Given the description of an element on the screen output the (x, y) to click on. 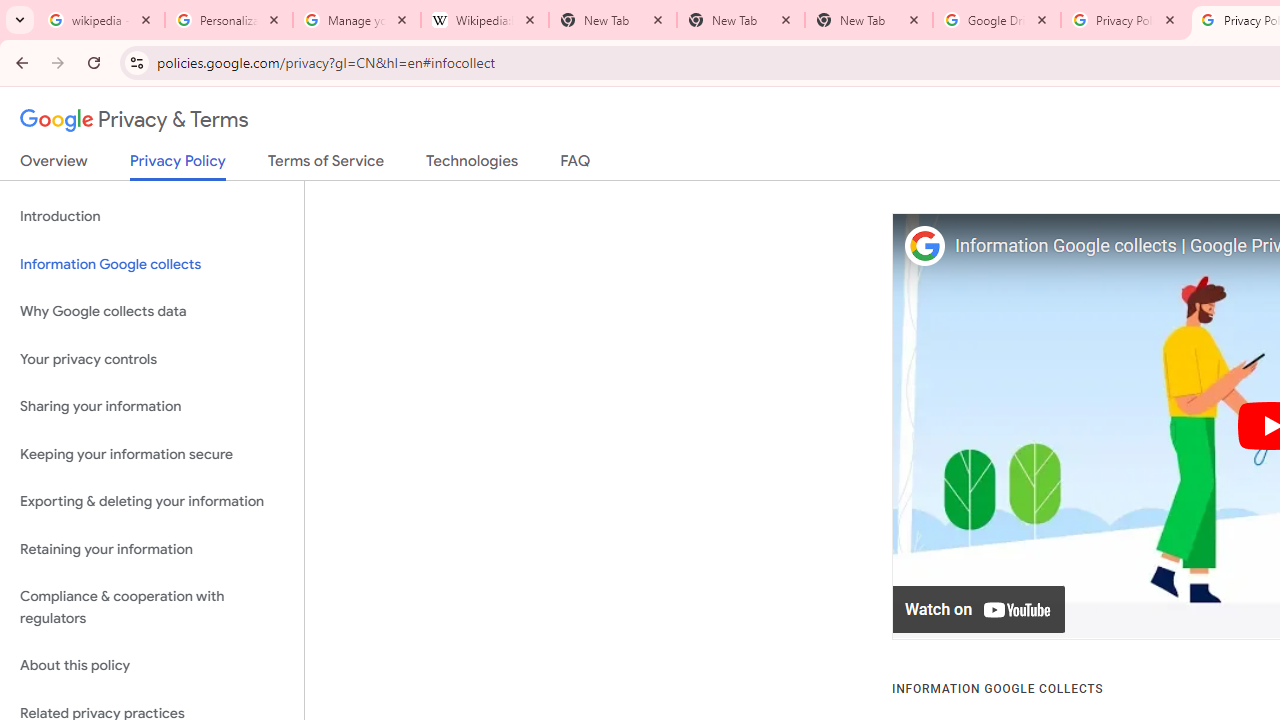
Your privacy controls (152, 358)
Introduction (152, 216)
Sharing your information (152, 407)
Compliance & cooperation with regulators (152, 607)
Keeping your information secure (152, 453)
Google Drive: Sign-in (997, 20)
About this policy (152, 666)
Why Google collects data (152, 312)
Information Google collects (152, 263)
